Given the description of an element on the screen output the (x, y) to click on. 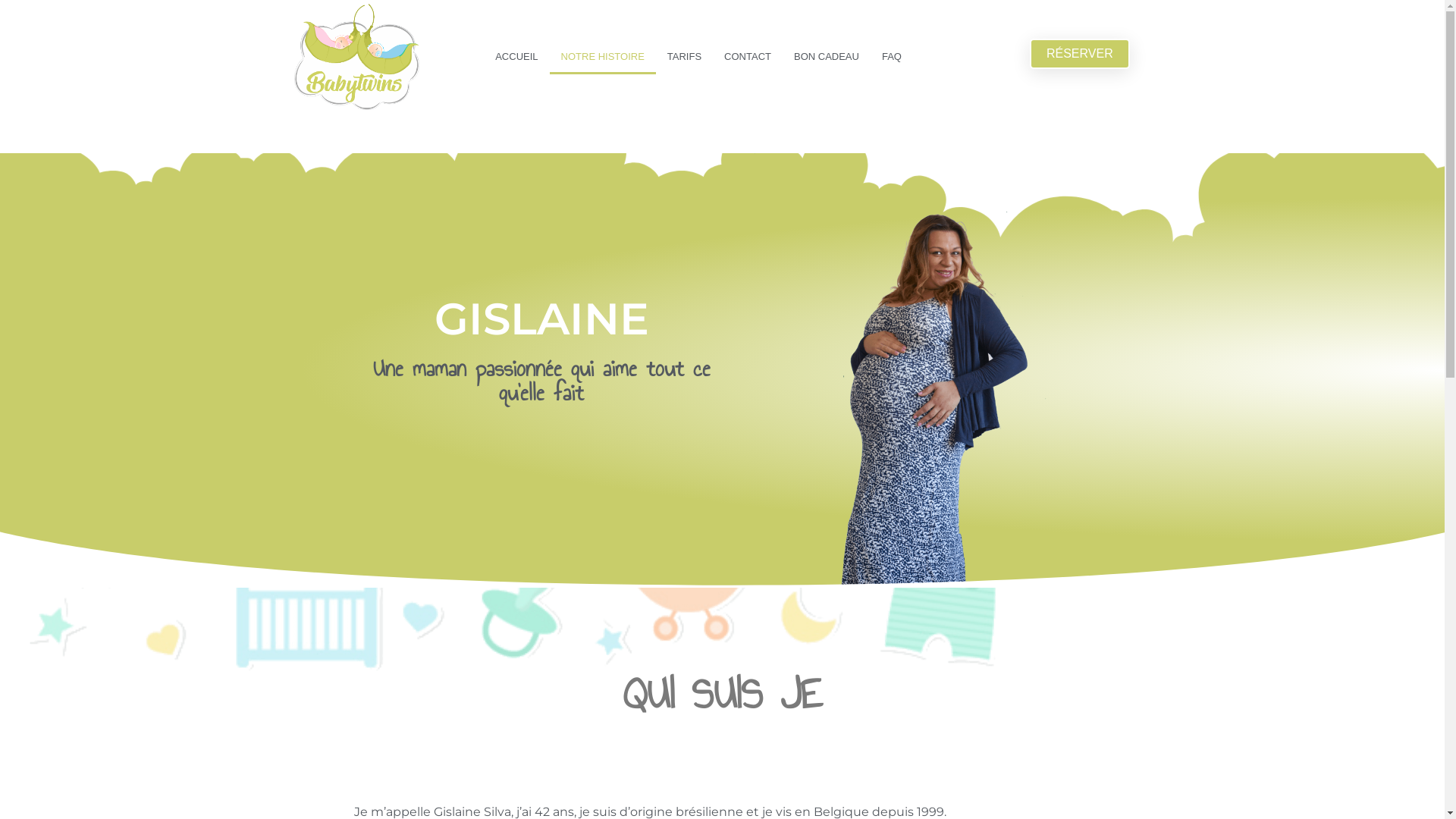
FAQ Element type: text (891, 56)
NOTRE HISTOIRE Element type: text (602, 56)
TARIFS Element type: text (683, 56)
CONTACT Element type: text (747, 56)
BON CADEAU Element type: text (826, 56)
ACCUEIL Element type: text (516, 56)
